Given the description of an element on the screen output the (x, y) to click on. 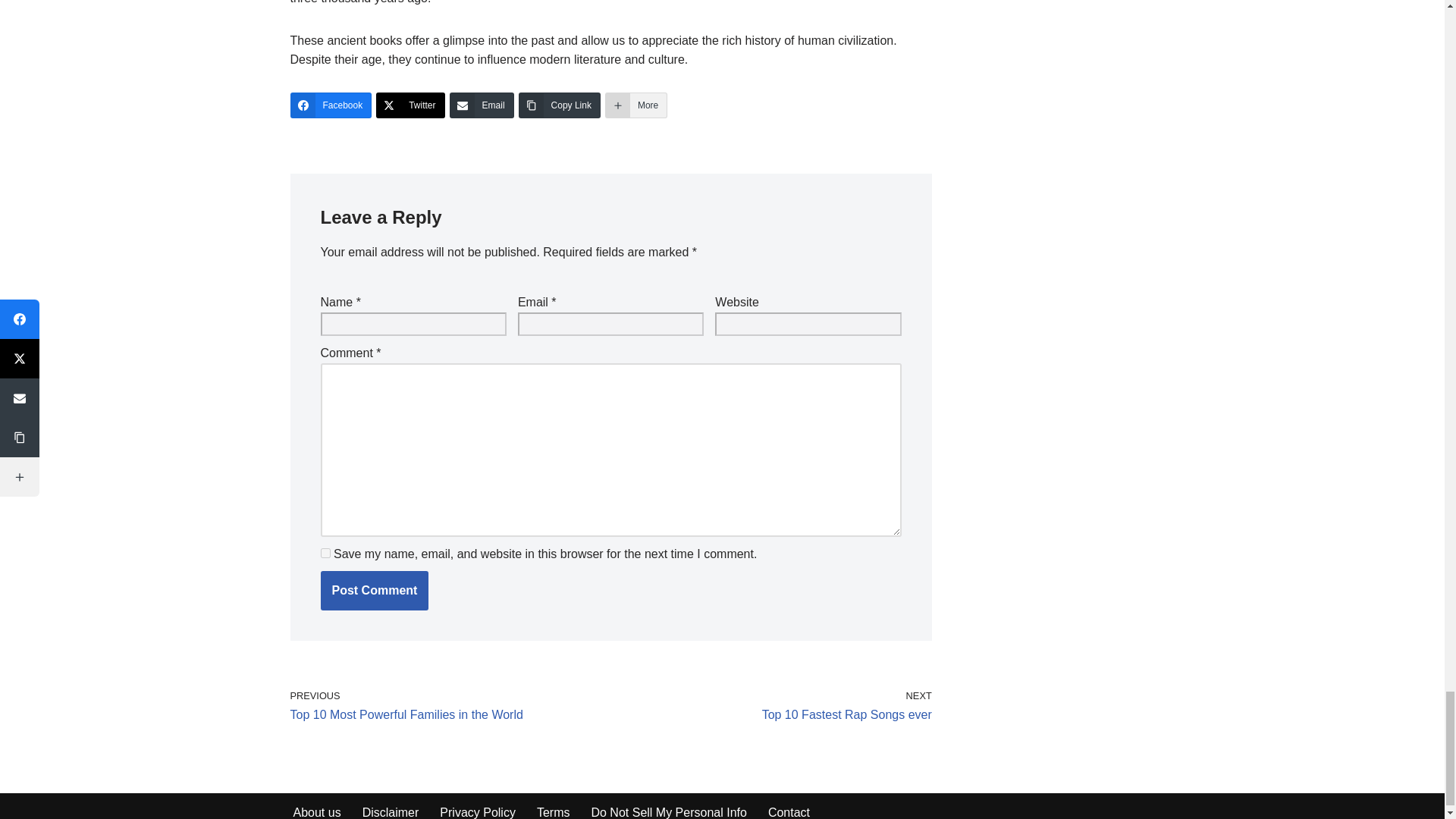
Post Comment (374, 590)
yes (325, 552)
